Given the description of an element on the screen output the (x, y) to click on. 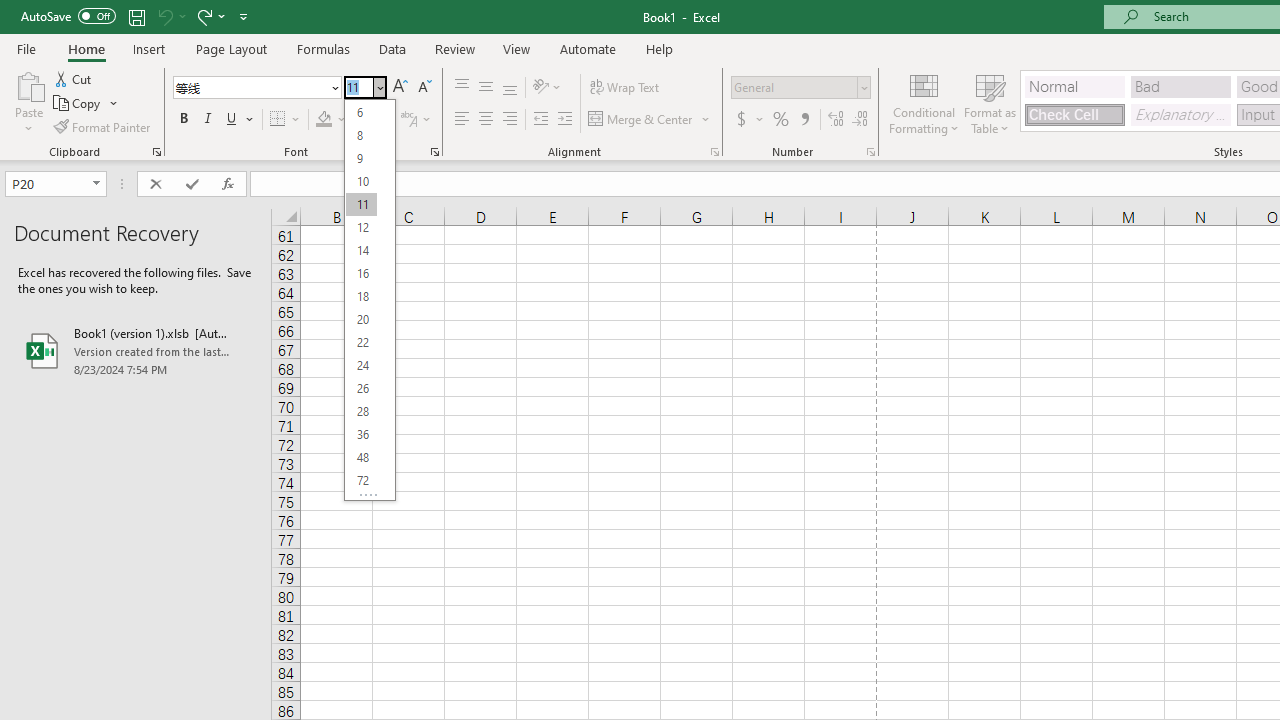
Conditional Formatting (924, 102)
Increase Indent (565, 119)
Font Size (369, 300)
Close (379, 87)
Help (660, 48)
Paste (28, 84)
20 (361, 319)
Copy (85, 103)
Fill Color (331, 119)
Font Color (370, 119)
Borders (285, 119)
Format as Table (990, 102)
28 (361, 411)
Font (256, 87)
